Given the description of an element on the screen output the (x, y) to click on. 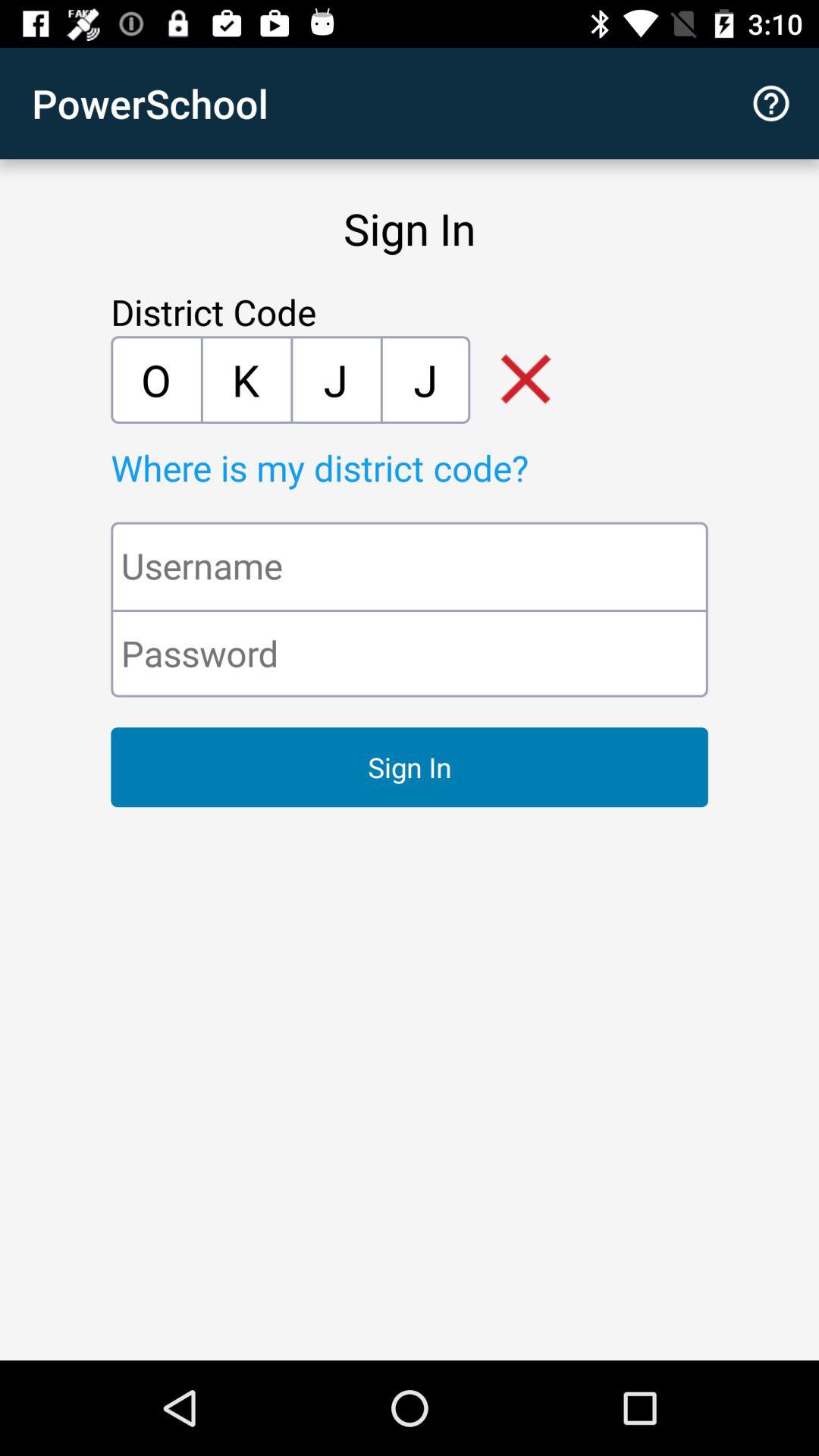
password entry (409, 653)
